Given the description of an element on the screen output the (x, y) to click on. 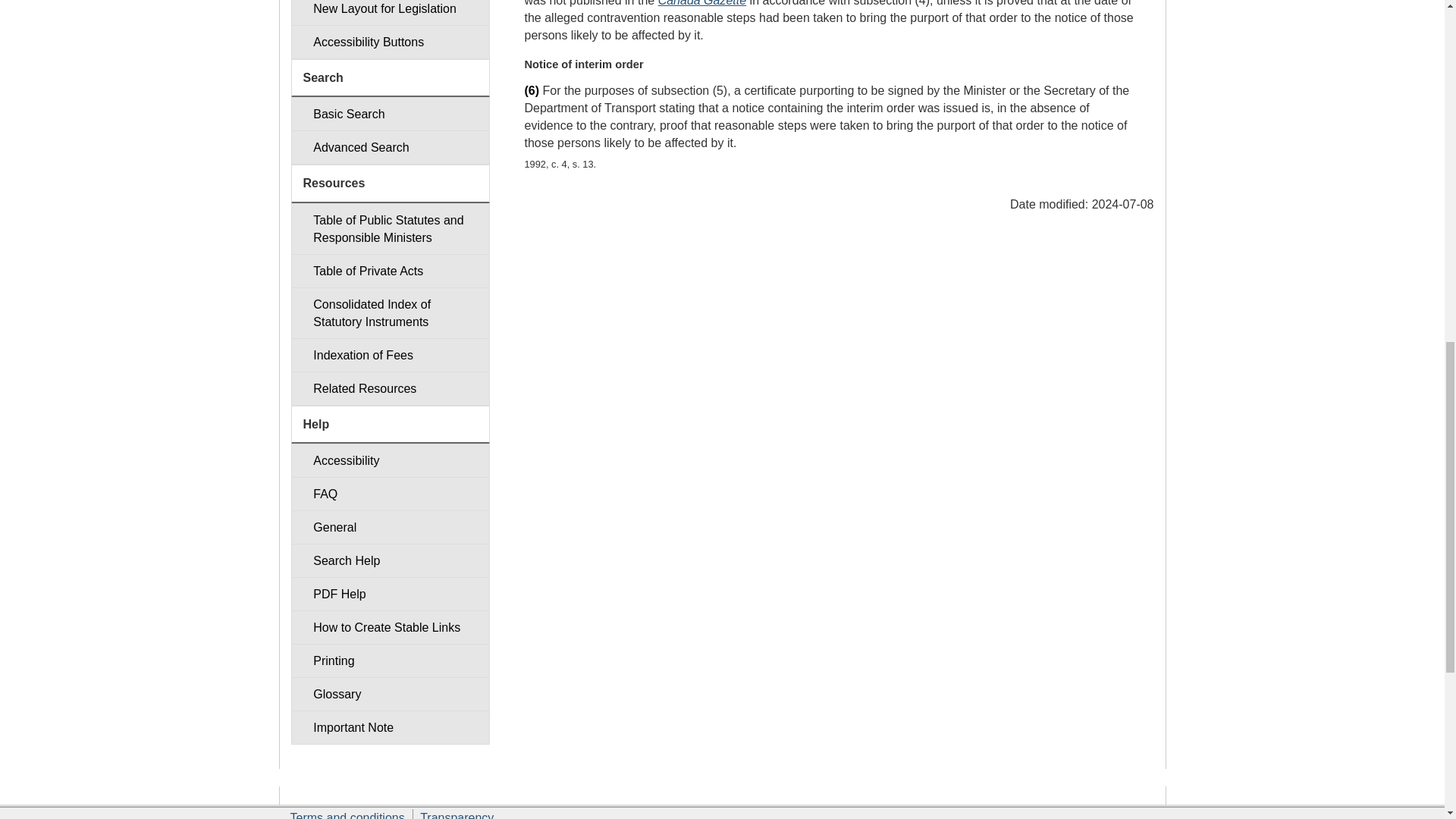
Accessibility Buttons (390, 41)
Table of Public Statutes and Responsible Ministers (390, 228)
Basic Search (390, 114)
Frequently Asked Questions (390, 493)
Canada Gazette (702, 3)
New Layout for Legislation (390, 12)
Advanced Search (390, 147)
Search - Justice Laws Website (390, 114)
Related Resources (390, 388)
Accessibility Help (390, 460)
Advanced Search - Justice Laws Website (390, 147)
Printing Help (390, 660)
General Help (390, 527)
